Given the description of an element on the screen output the (x, y) to click on. 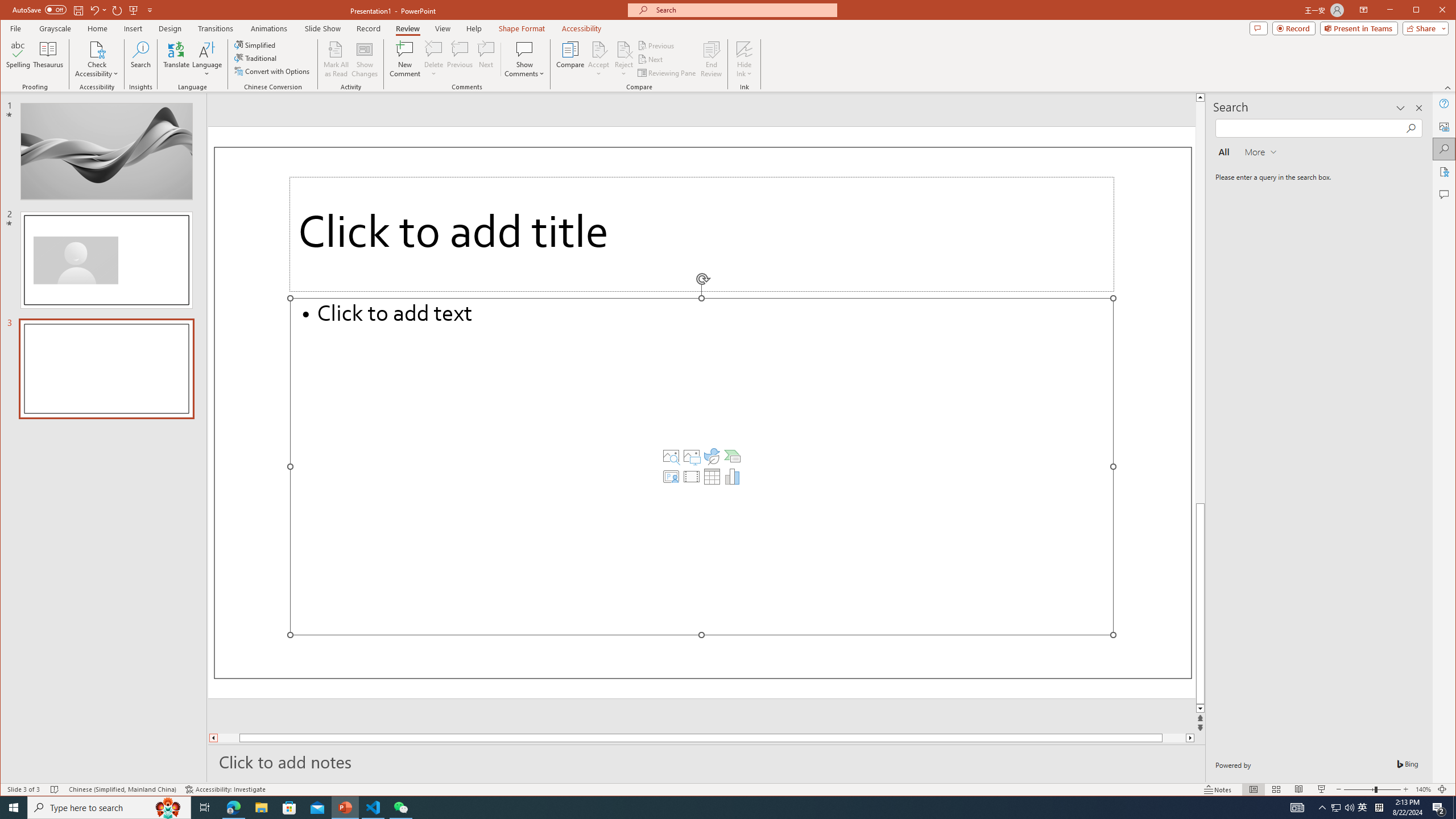
Language (207, 59)
Insert Cameo (670, 476)
Convert with Options... (272, 70)
